Given the description of an element on the screen output the (x, y) to click on. 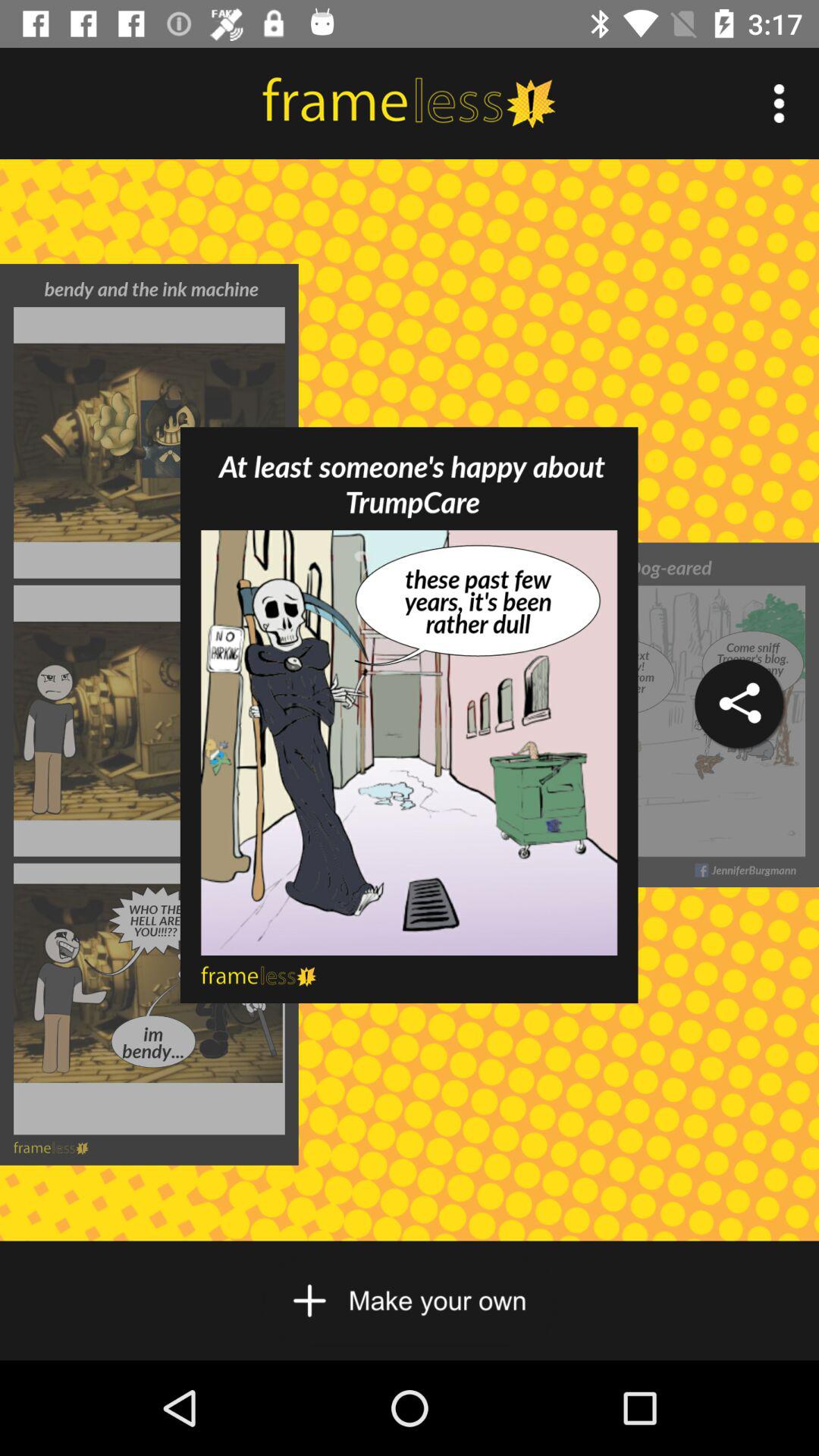
share the cartoon story (738, 703)
